Given the description of an element on the screen output the (x, y) to click on. 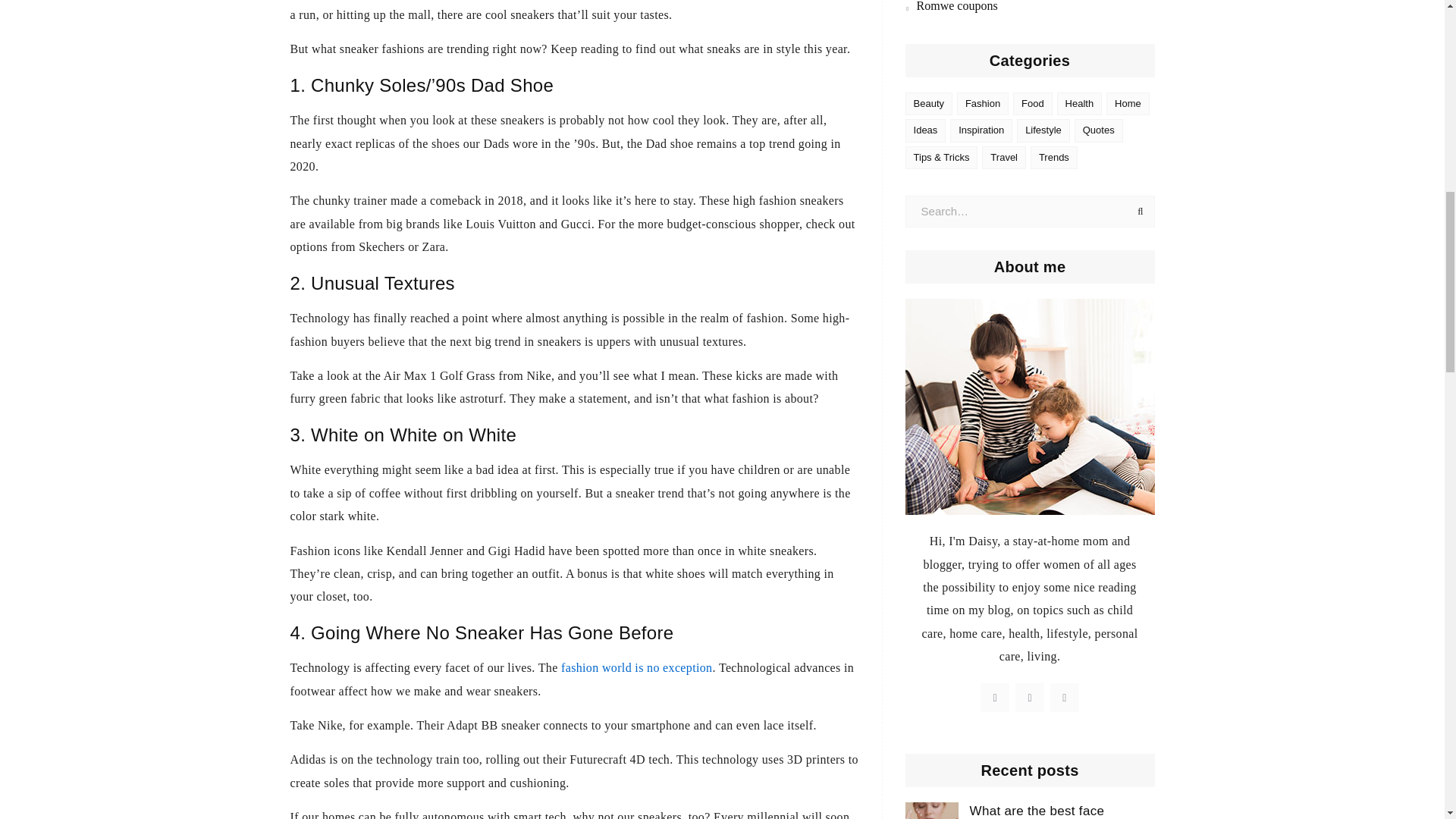
fashion world is no exception (635, 667)
Search for: (1029, 211)
